Given the description of an element on the screen output the (x, y) to click on. 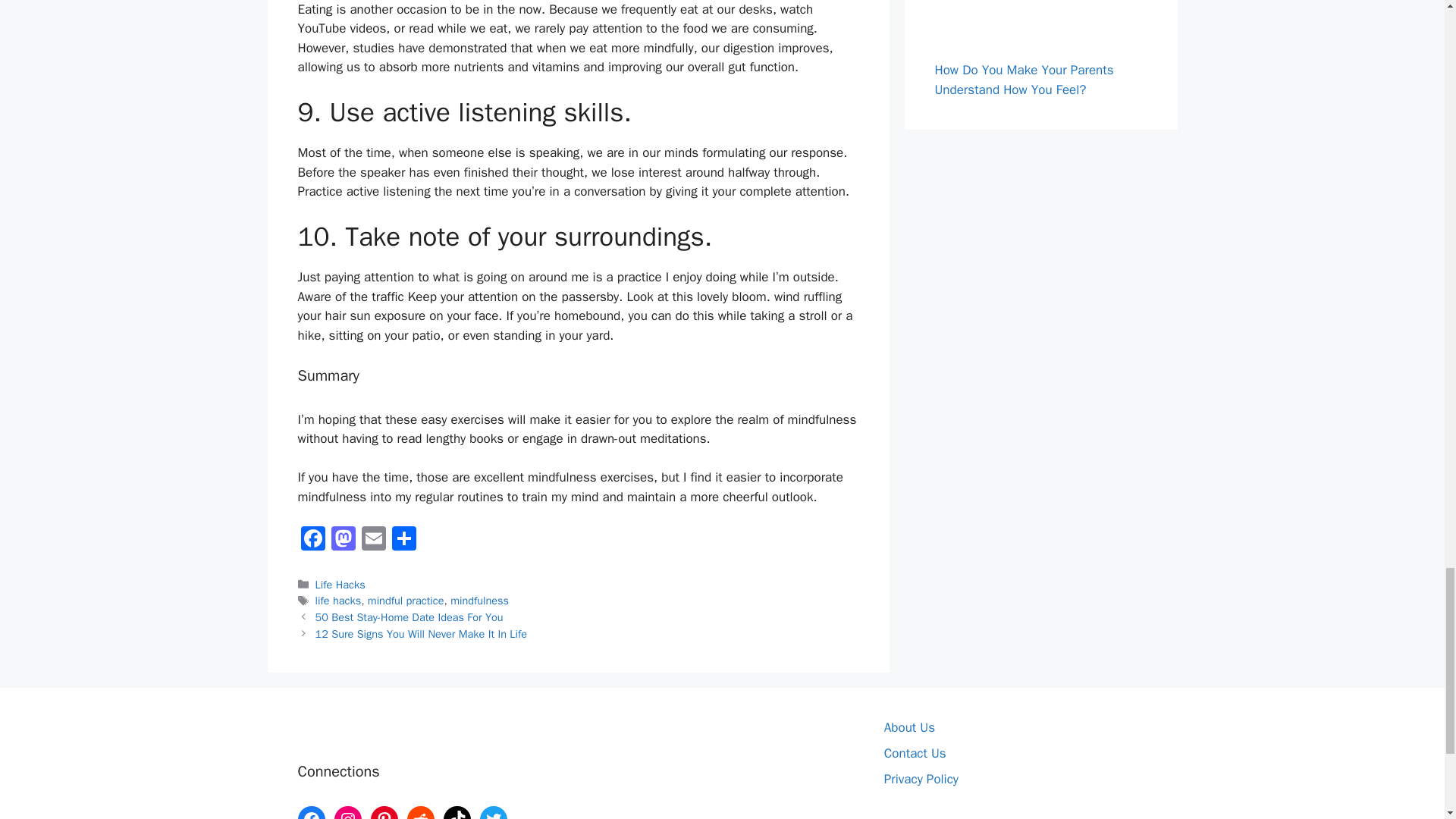
mindful practice (406, 600)
Email (373, 540)
Facebook (312, 540)
mindfulness (478, 600)
How Do You Make Your Parents Understand How You Feel? (1023, 79)
Email (373, 540)
Mastodon (342, 540)
Facebook (312, 540)
life hacks (338, 600)
50 Best Stay-Home Date Ideas For You (409, 617)
12 Sure Signs You Will Never Make It In Life (421, 633)
Mastodon (342, 540)
Life Hacks (340, 584)
